Given the description of an element on the screen output the (x, y) to click on. 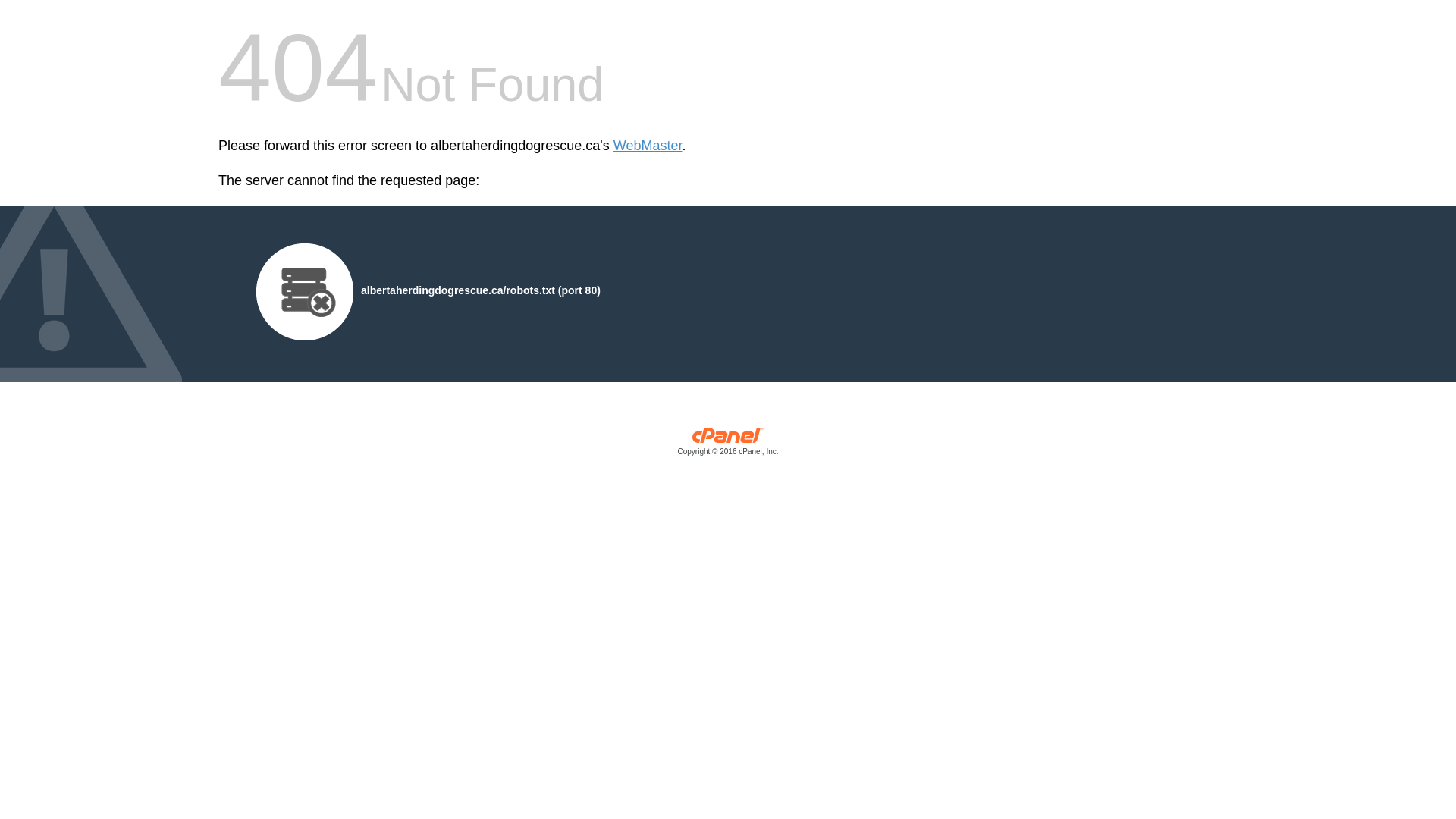
WebMaster Element type: text (647, 145)
